Given the description of an element on the screen output the (x, y) to click on. 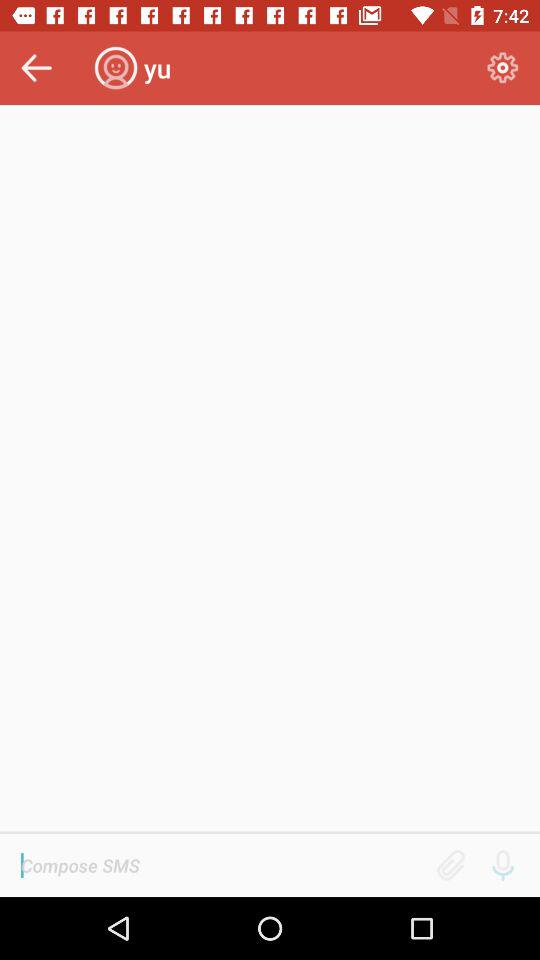
turn off item to the right of the  yu (502, 67)
